Given the description of an element on the screen output the (x, y) to click on. 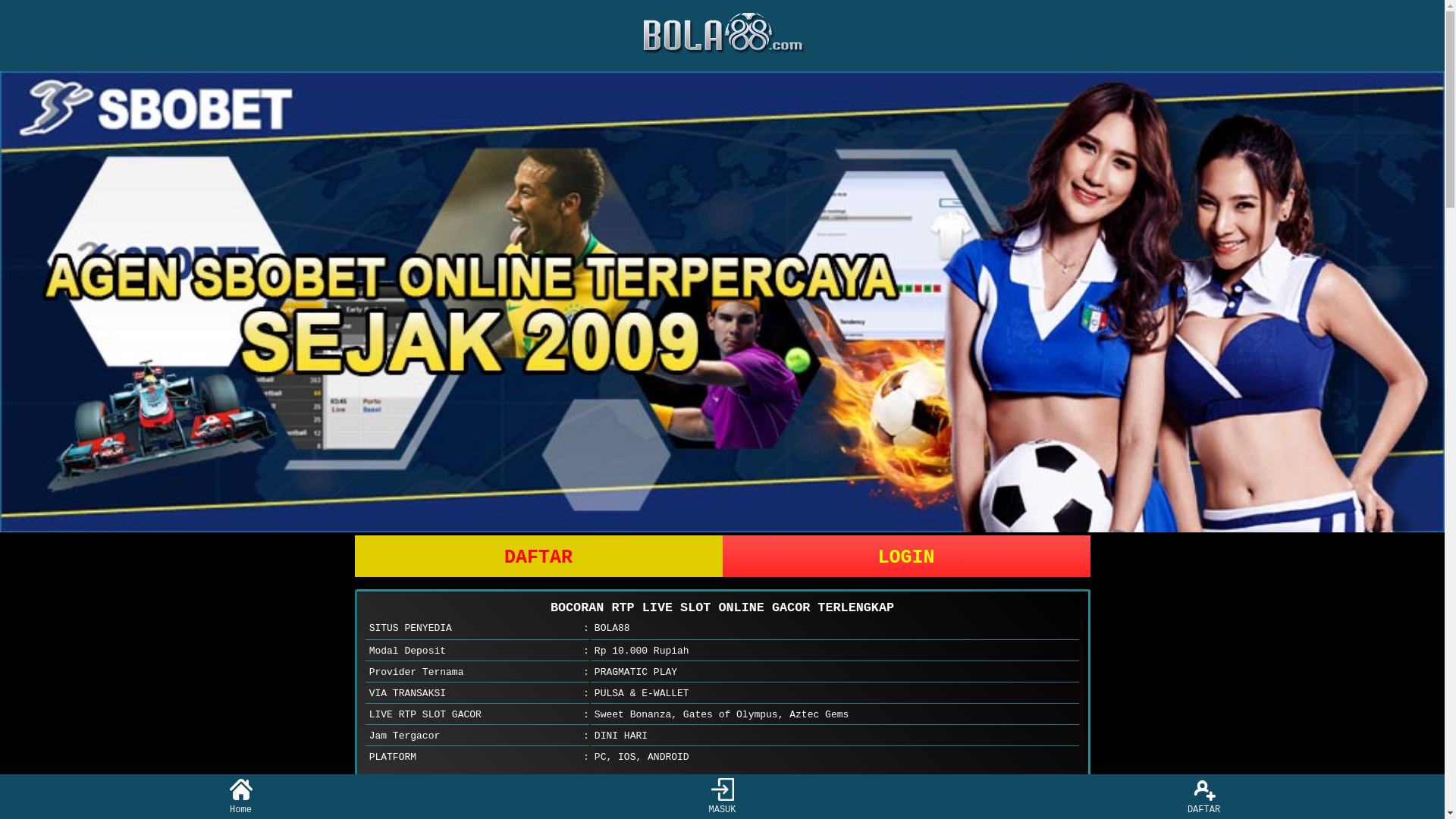
Home Element type: text (240, 796)
MASUK Element type: text (721, 796)
DAFTAR Element type: text (538, 556)
DAFTAR Element type: text (1203, 796)
LOGIN Element type: text (905, 556)
Slot Element type: hover (722, 301)
